Given the description of an element on the screen output the (x, y) to click on. 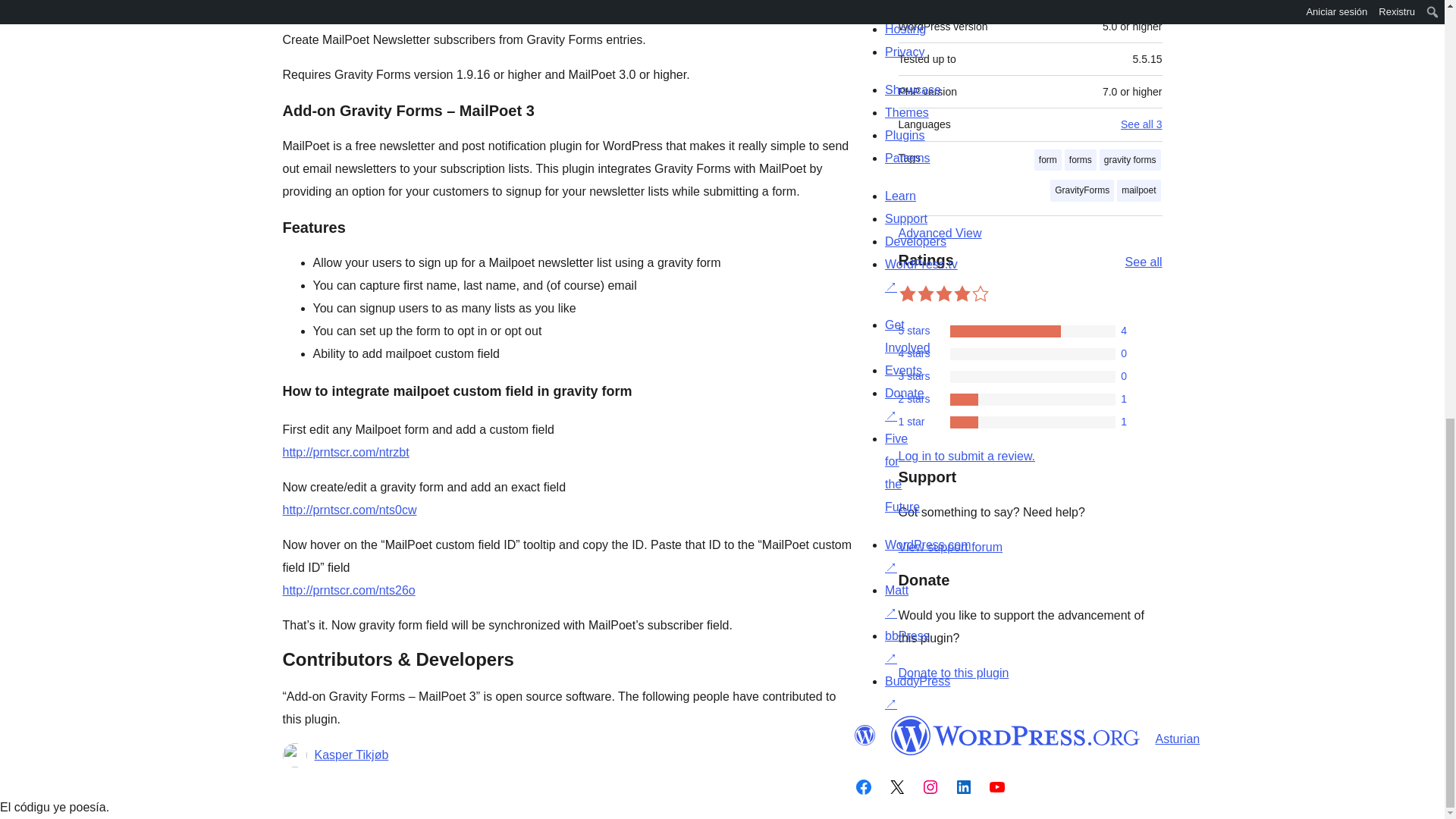
Gravity Forms (350, 5)
WordPress.org (1014, 735)
WordPress.org (864, 735)
Log in to WordPress.org (966, 455)
